Given the description of an element on the screen output the (x, y) to click on. 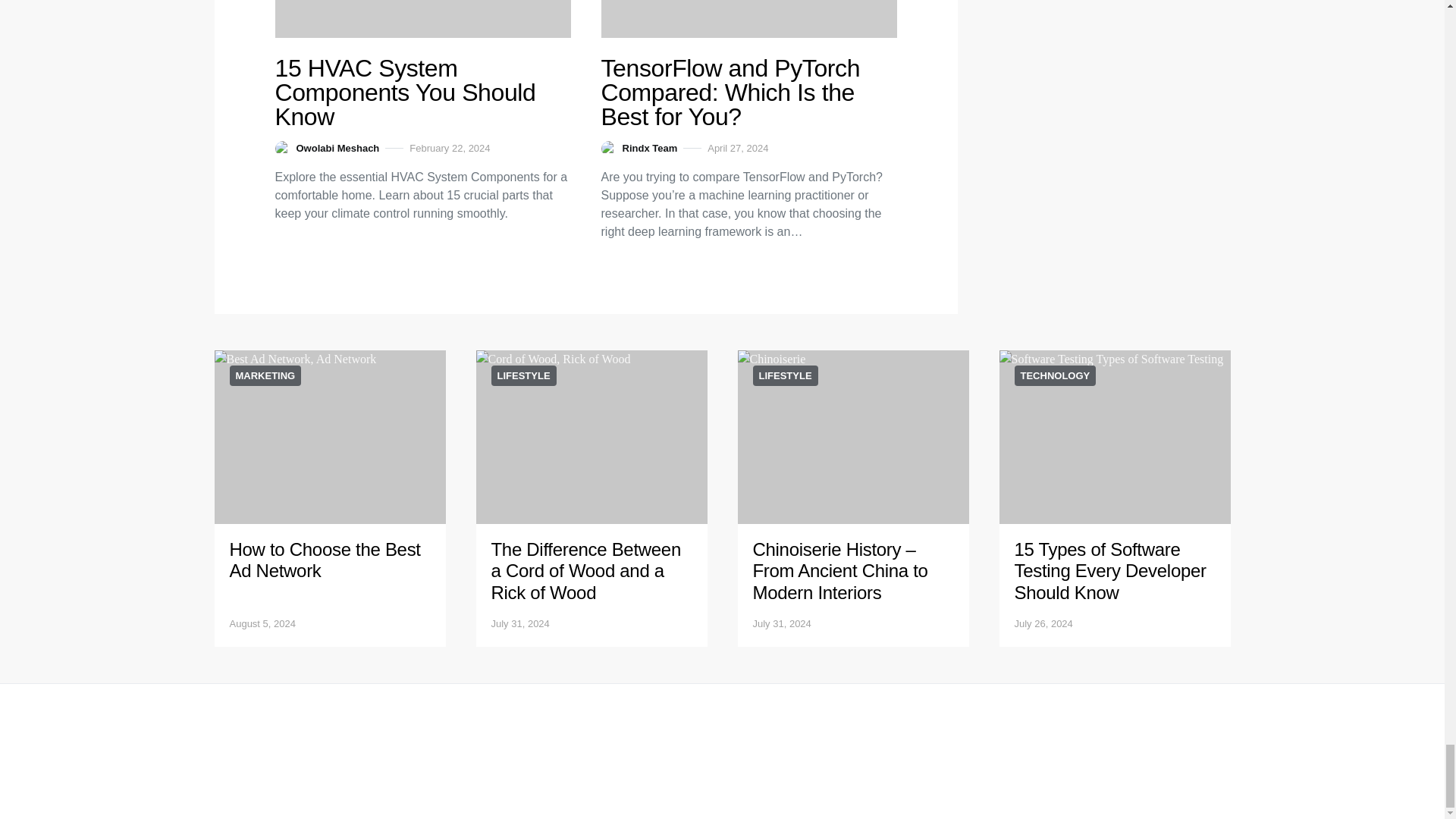
Software Sales Recruiters (422, 18)
How to Choose the Best Ad Network (324, 559)
Software Sales Recruiters (747, 18)
View all posts by Owolabi Meshach (326, 148)
Software Sales Recruiters (329, 437)
View all posts by Rindx Team (638, 148)
Software Sales Recruiters (591, 437)
